Given the description of an element on the screen output the (x, y) to click on. 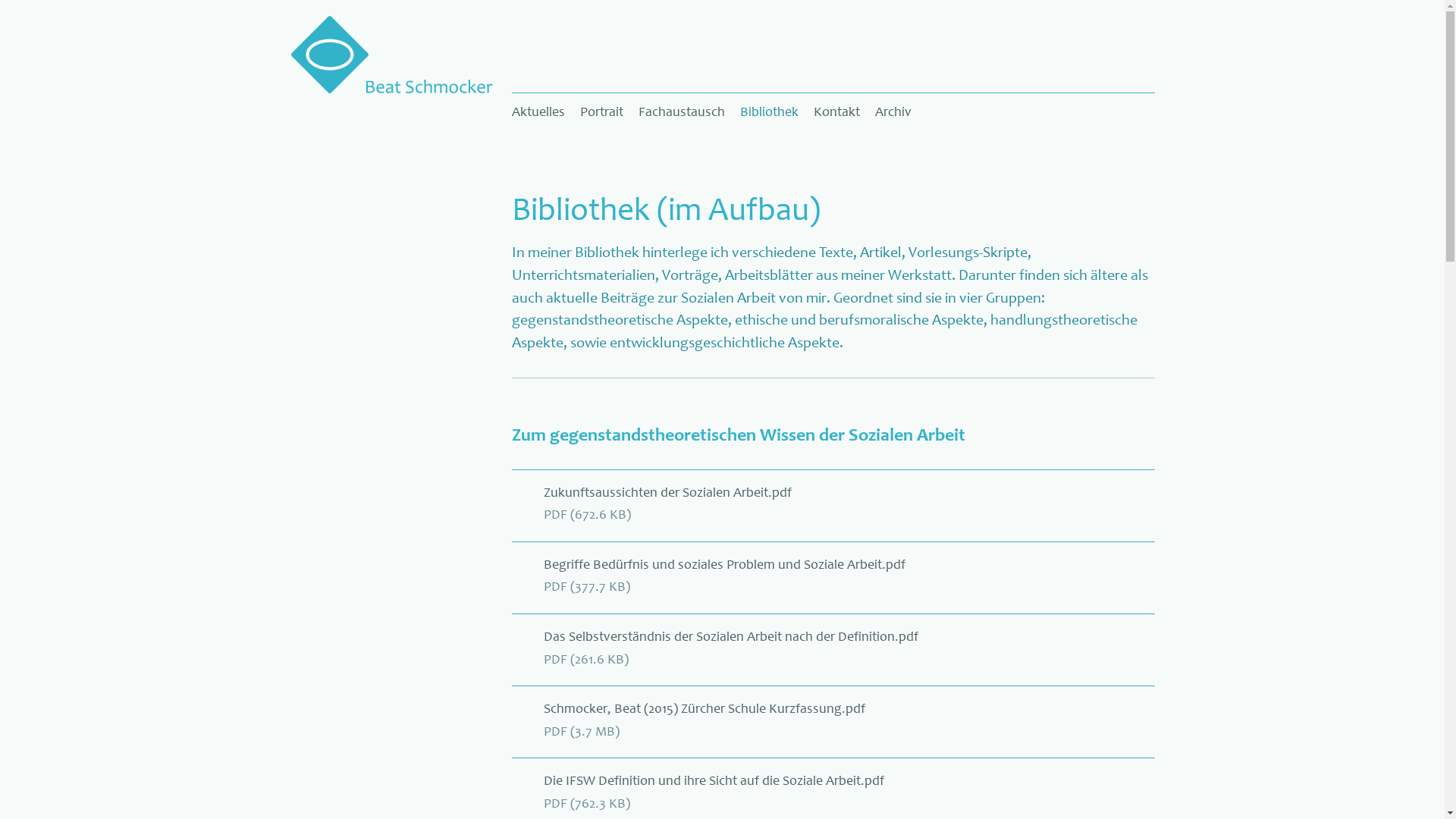
Kontakt Element type: text (836, 111)
Zukunftsaussichten der Sozialen Arbeit.pdf
PDF (672.6 KB) Element type: text (832, 522)
Bibliothek Element type: text (769, 111)
Fachaustausch Element type: text (681, 111)
Aktuelles Element type: text (541, 111)
Portrait Element type: text (601, 111)
Archiv Element type: text (893, 111)
